Given the description of an element on the screen output the (x, y) to click on. 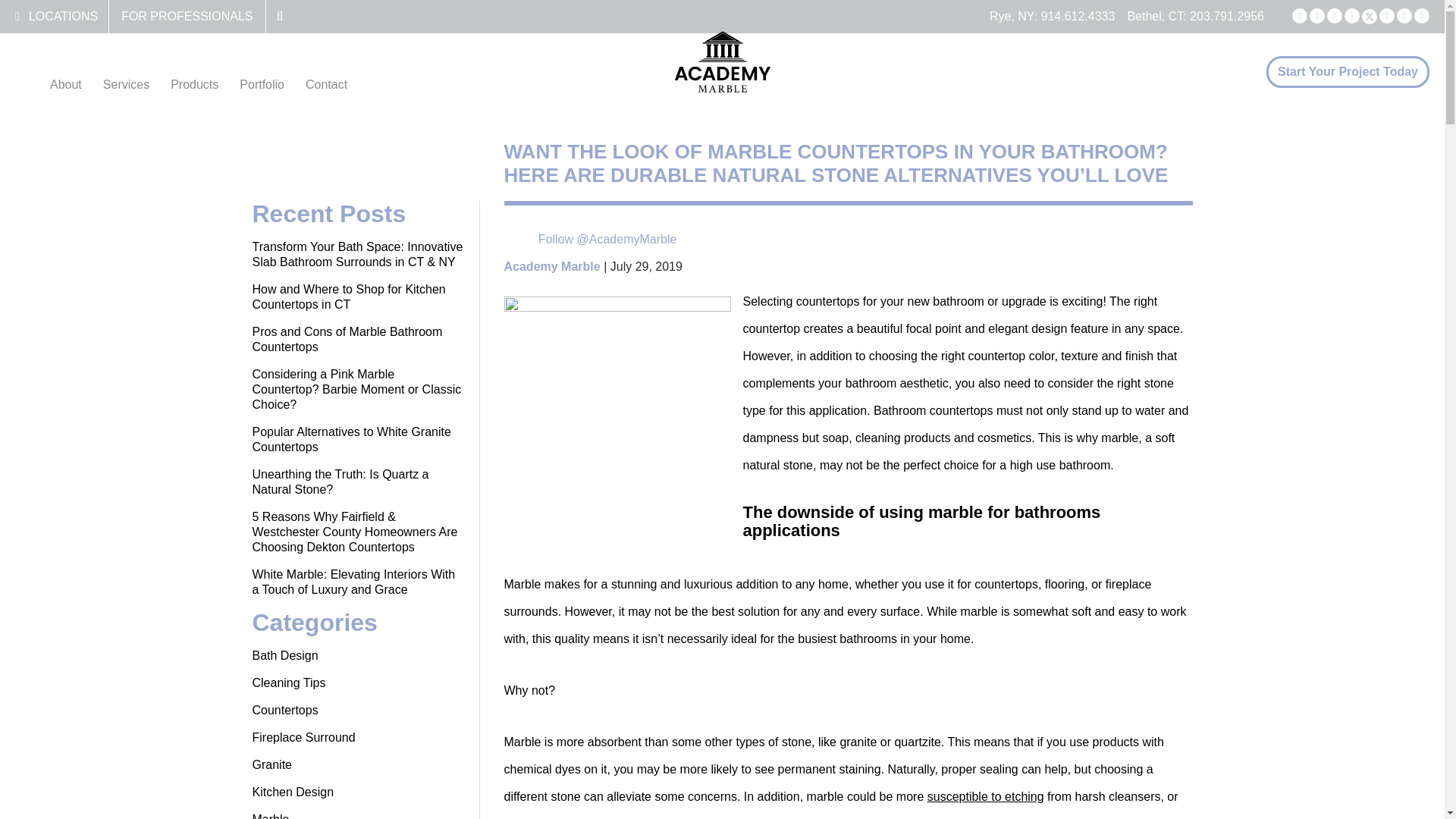
LOCATIONS (63, 15)
914.612.4333 (1078, 15)
FOR PROFESSIONALS (185, 15)
203.791.2956 (1226, 15)
